Given the description of an element on the screen output the (x, y) to click on. 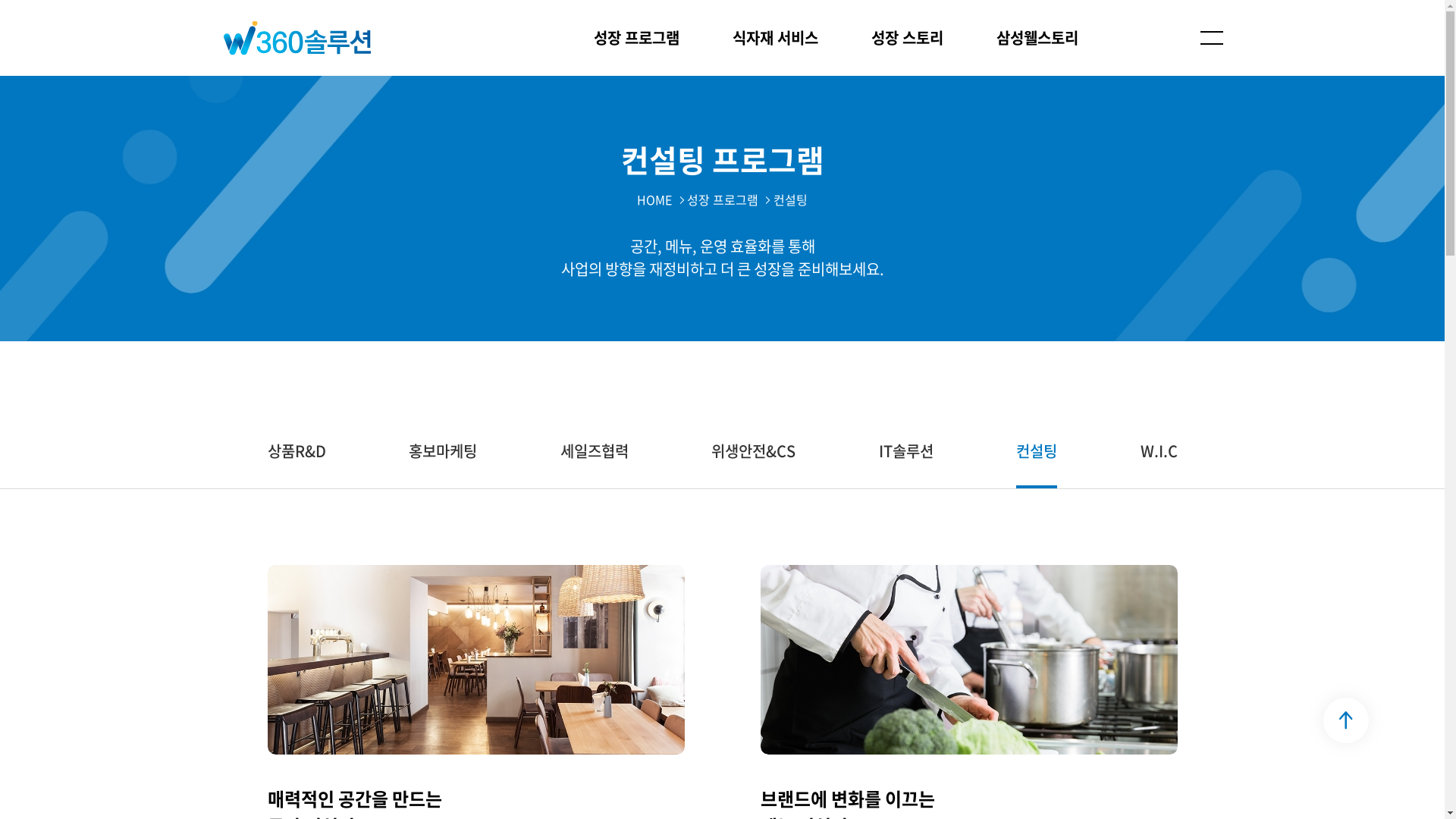
HOME Element type: text (654, 198)
W.I.C Element type: text (1158, 452)
